Given the description of an element on the screen output the (x, y) to click on. 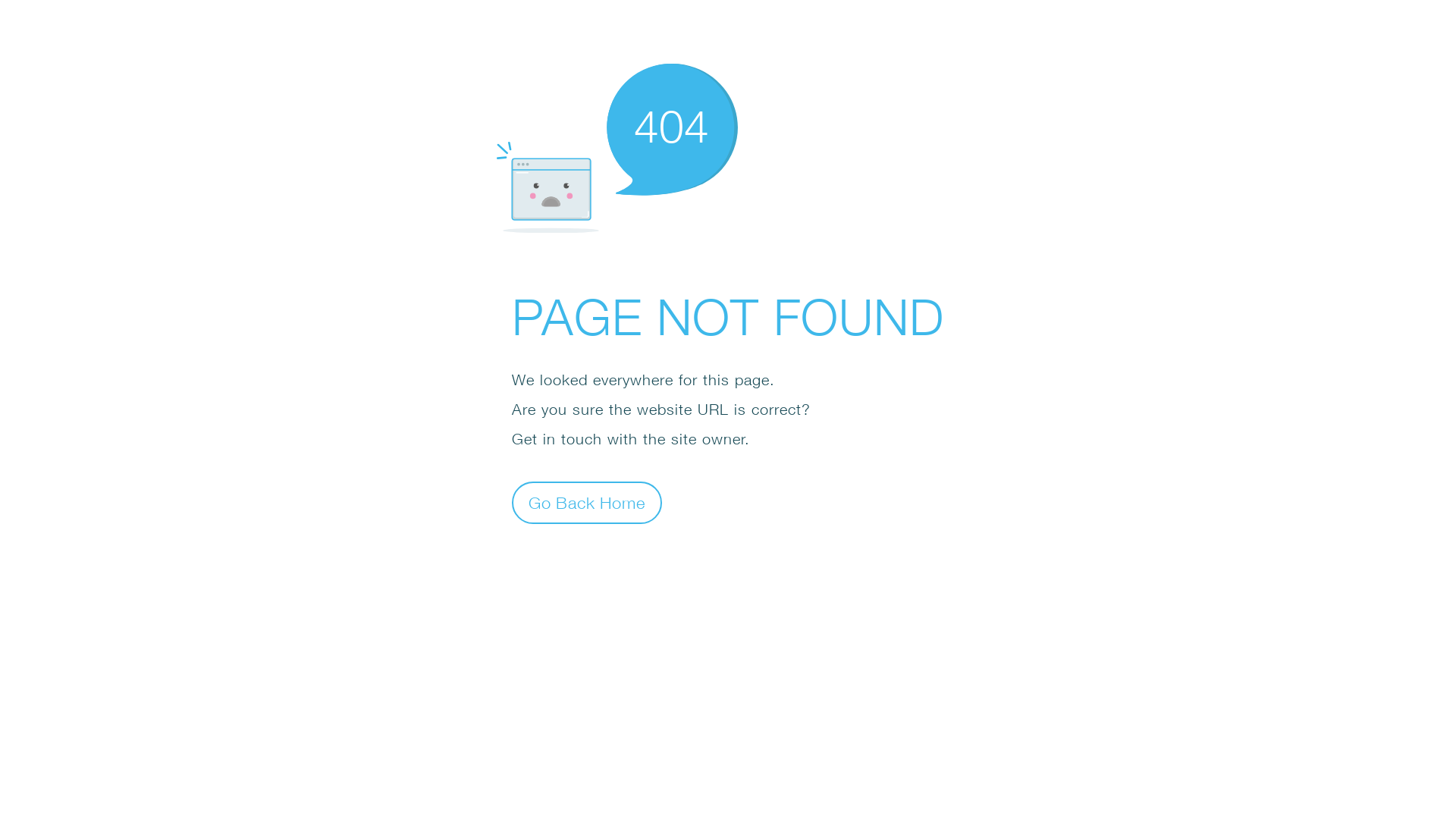
Go Back Home Element type: text (586, 502)
